Given the description of an element on the screen output the (x, y) to click on. 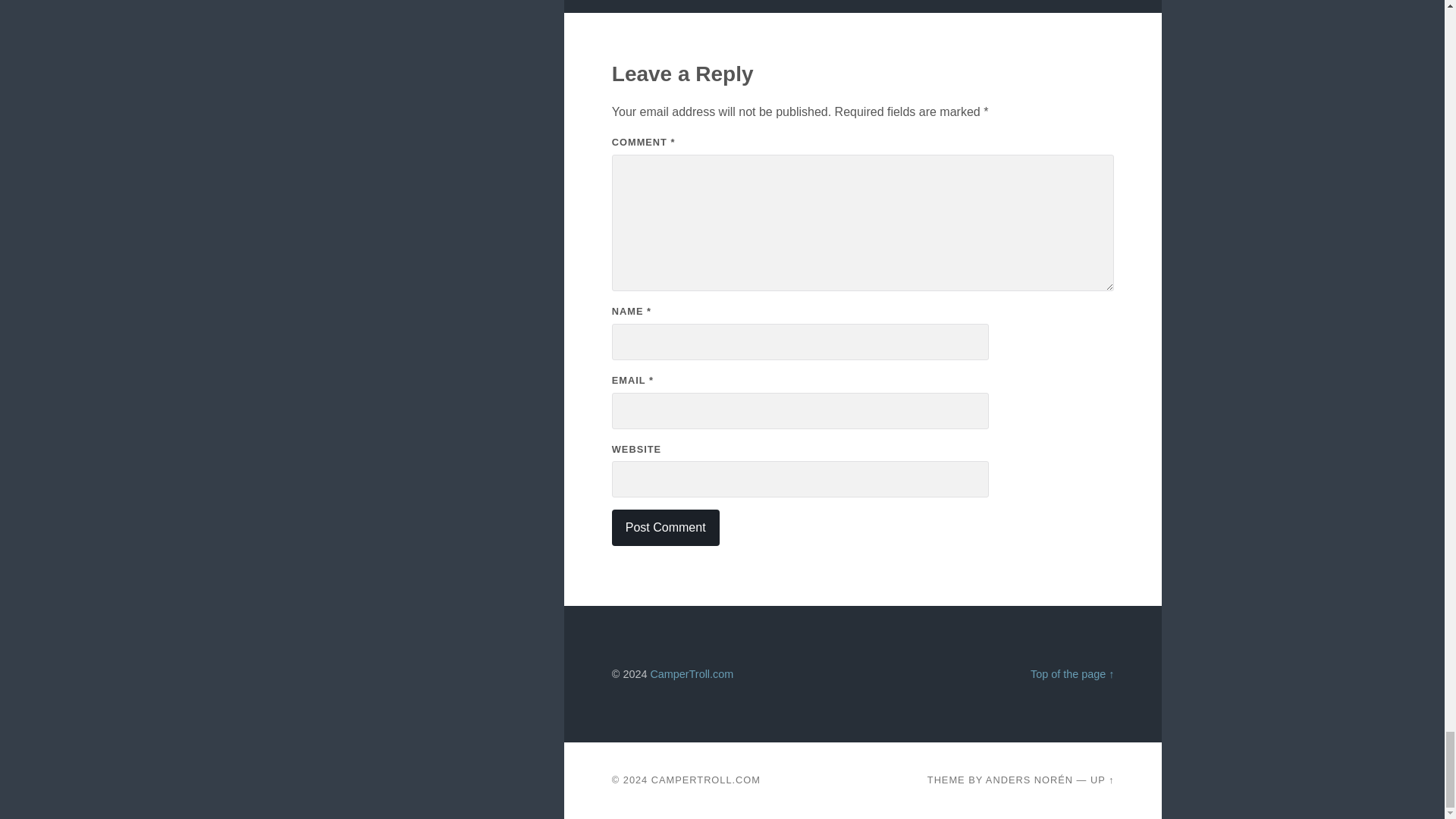
Post Comment (665, 527)
CamperTroll.com (691, 674)
To the top (1071, 674)
